Given the description of an element on the screen output the (x, y) to click on. 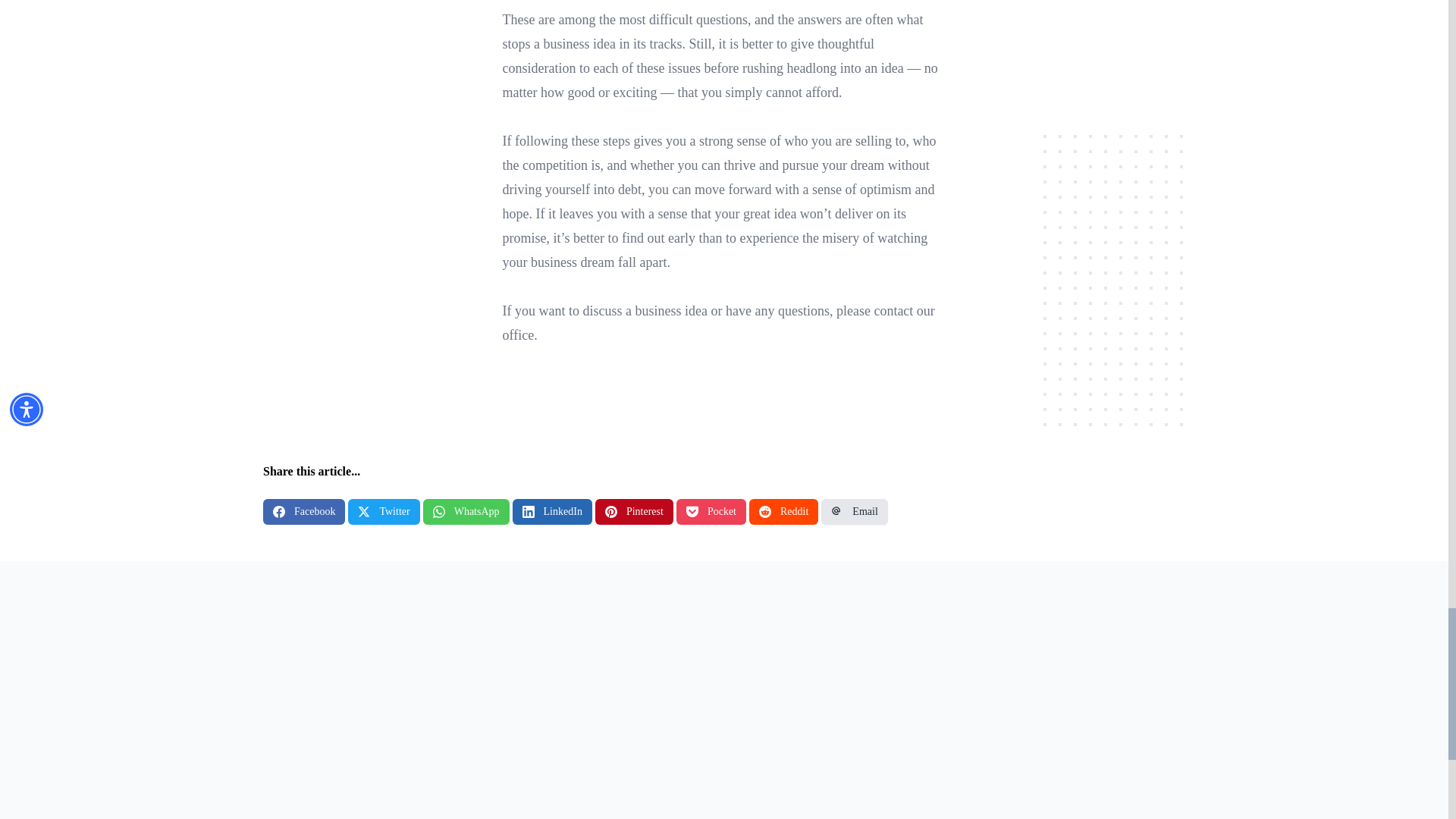
Facebook (304, 511)
WhatsApp (466, 511)
Twitter (383, 511)
